Given the description of an element on the screen output the (x, y) to click on. 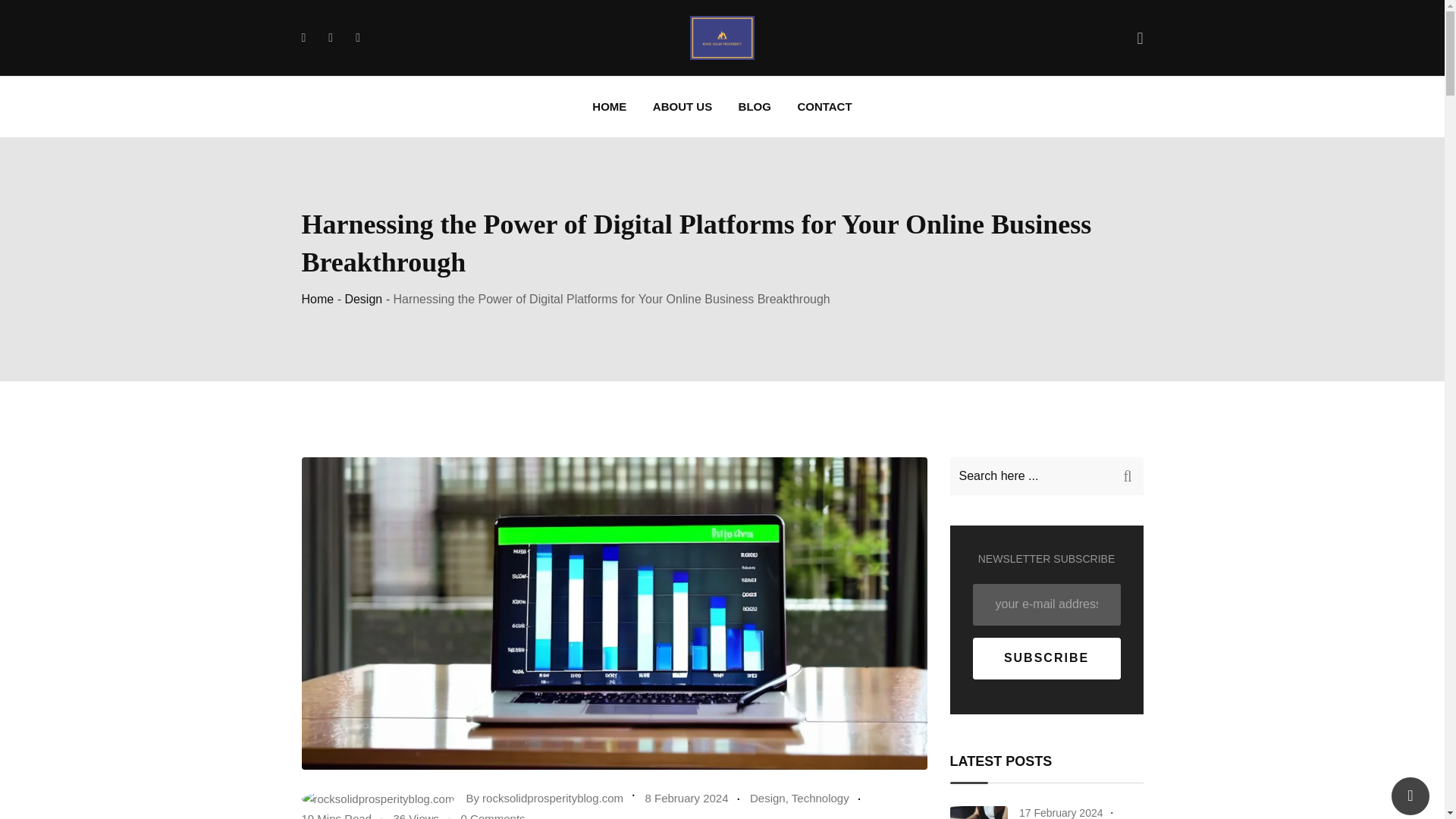
Home (317, 298)
CONTACT (824, 106)
ABOUT US (682, 106)
HOME (608, 106)
Technology (820, 797)
Design (767, 797)
BLOG (754, 106)
SUBSCRIBE (1045, 658)
rocksolidprosperityblog.com (552, 797)
